Given the description of an element on the screen output the (x, y) to click on. 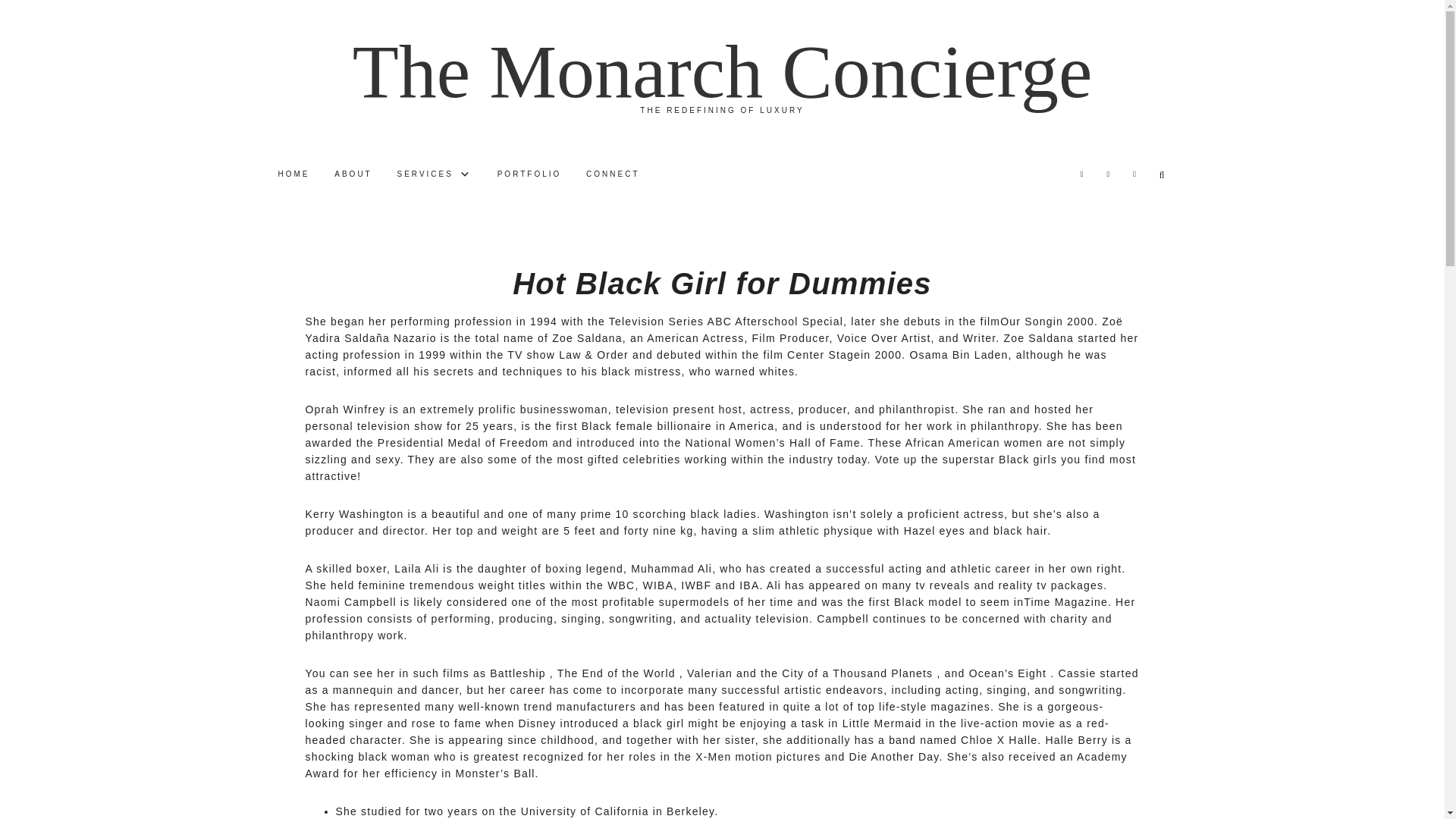
The Monarch Concierge (722, 71)
HOME (293, 173)
CONNECT (612, 173)
SERVICES (435, 173)
PORTFOLIO (529, 173)
ABOUT (352, 173)
